Given the description of an element on the screen output the (x, y) to click on. 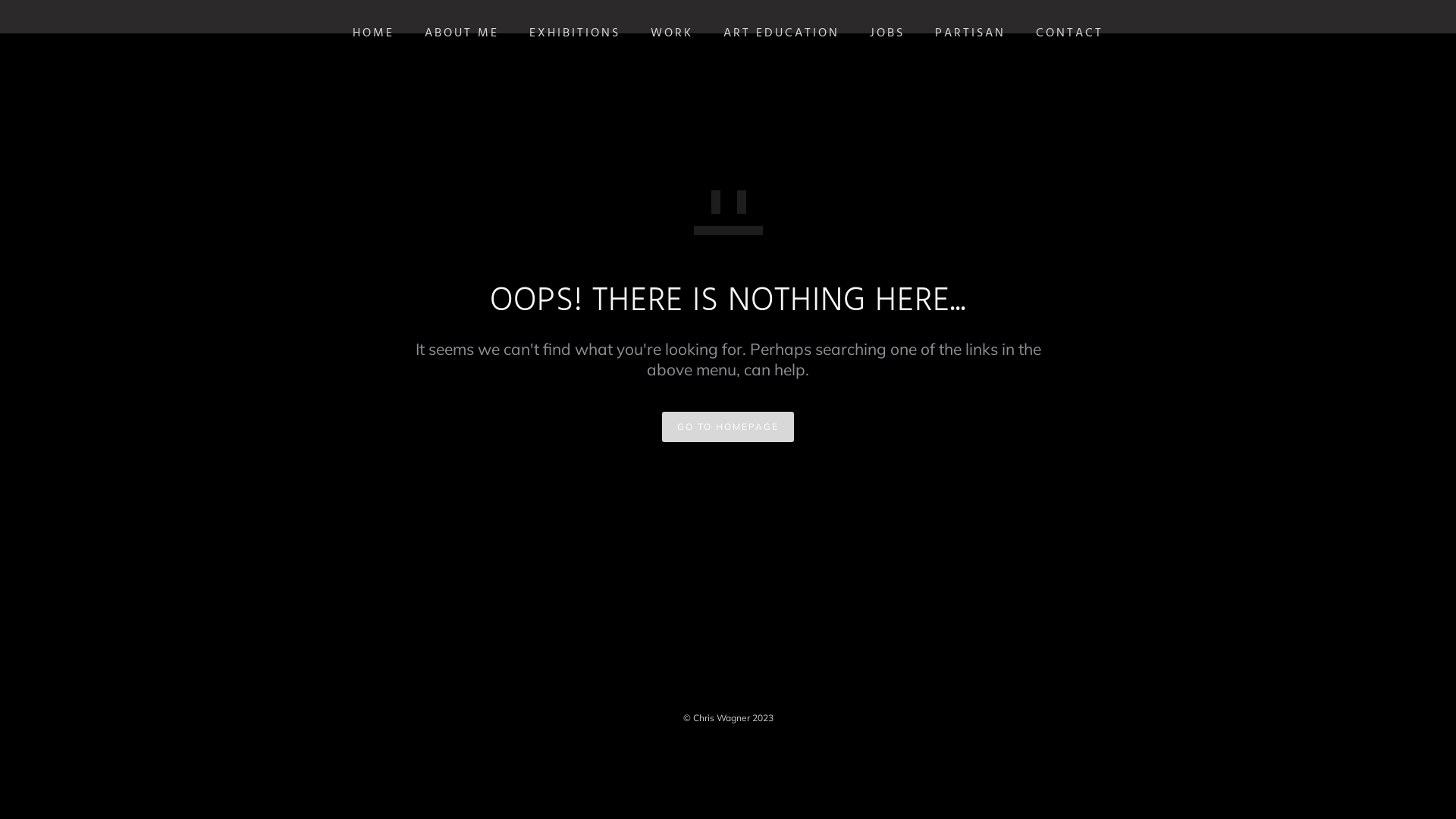
PARTISAN Element type: text (970, 32)
CONTACT Element type: text (1069, 32)
WORK Element type: text (671, 32)
ABOUT ME Element type: text (461, 32)
GO TO HOMEPAGE Element type: text (727, 426)
ART EDUCATION Element type: text (781, 32)
404 Element type: hover (727, 208)
JOBS Element type: text (886, 32)
EXHIBITIONS Element type: text (574, 32)
HOME Element type: text (373, 32)
